Given the description of an element on the screen output the (x, y) to click on. 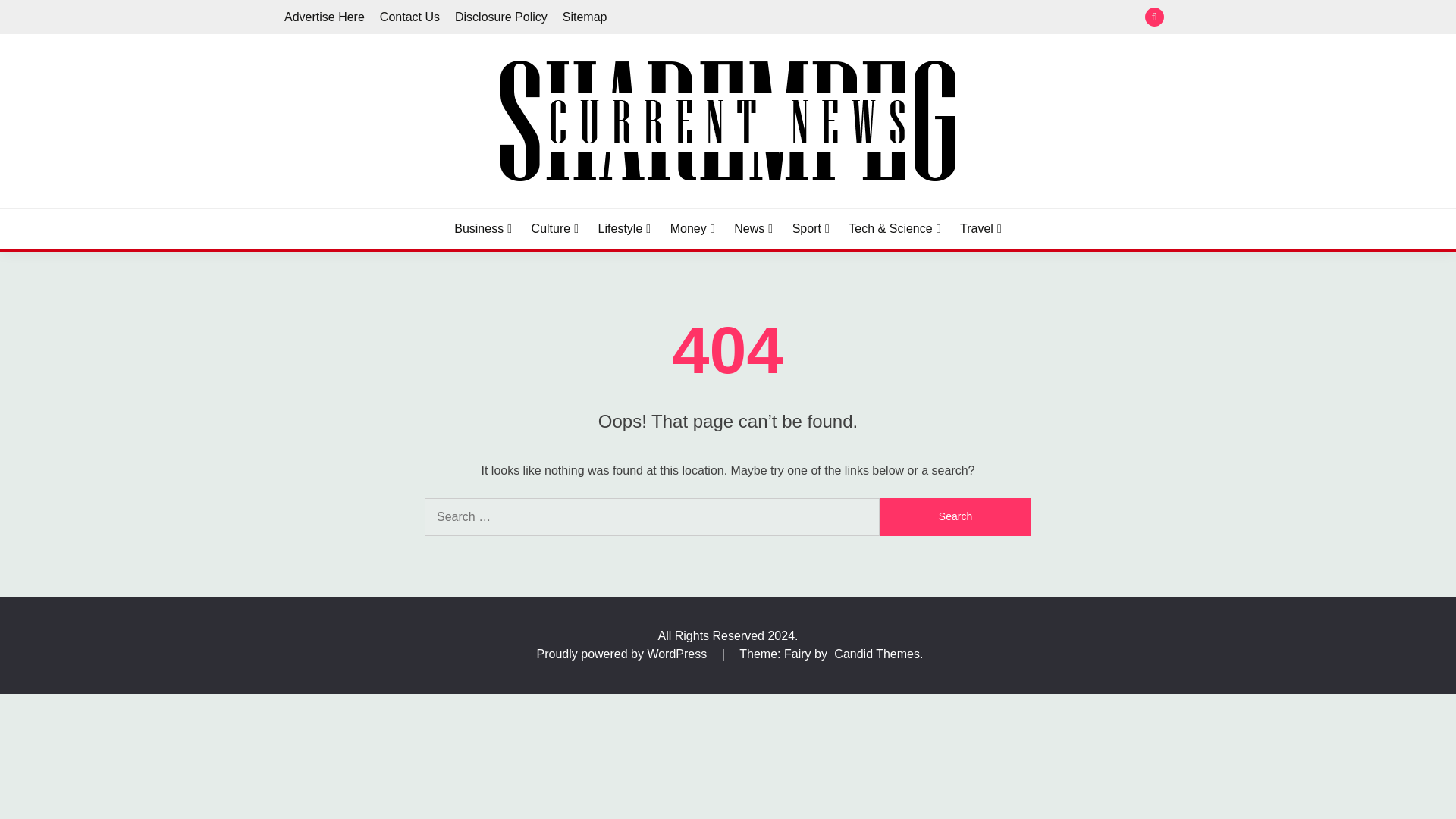
Business (483, 229)
Search (839, 18)
Sitemap (584, 16)
Lifestyle (624, 229)
Contact Us (409, 16)
Disclosure Policy (500, 16)
Advertise Here (324, 16)
Money (691, 229)
Search (954, 516)
Search (954, 516)
Culture (554, 229)
SHARE MPEG (377, 205)
